Given the description of an element on the screen output the (x, y) to click on. 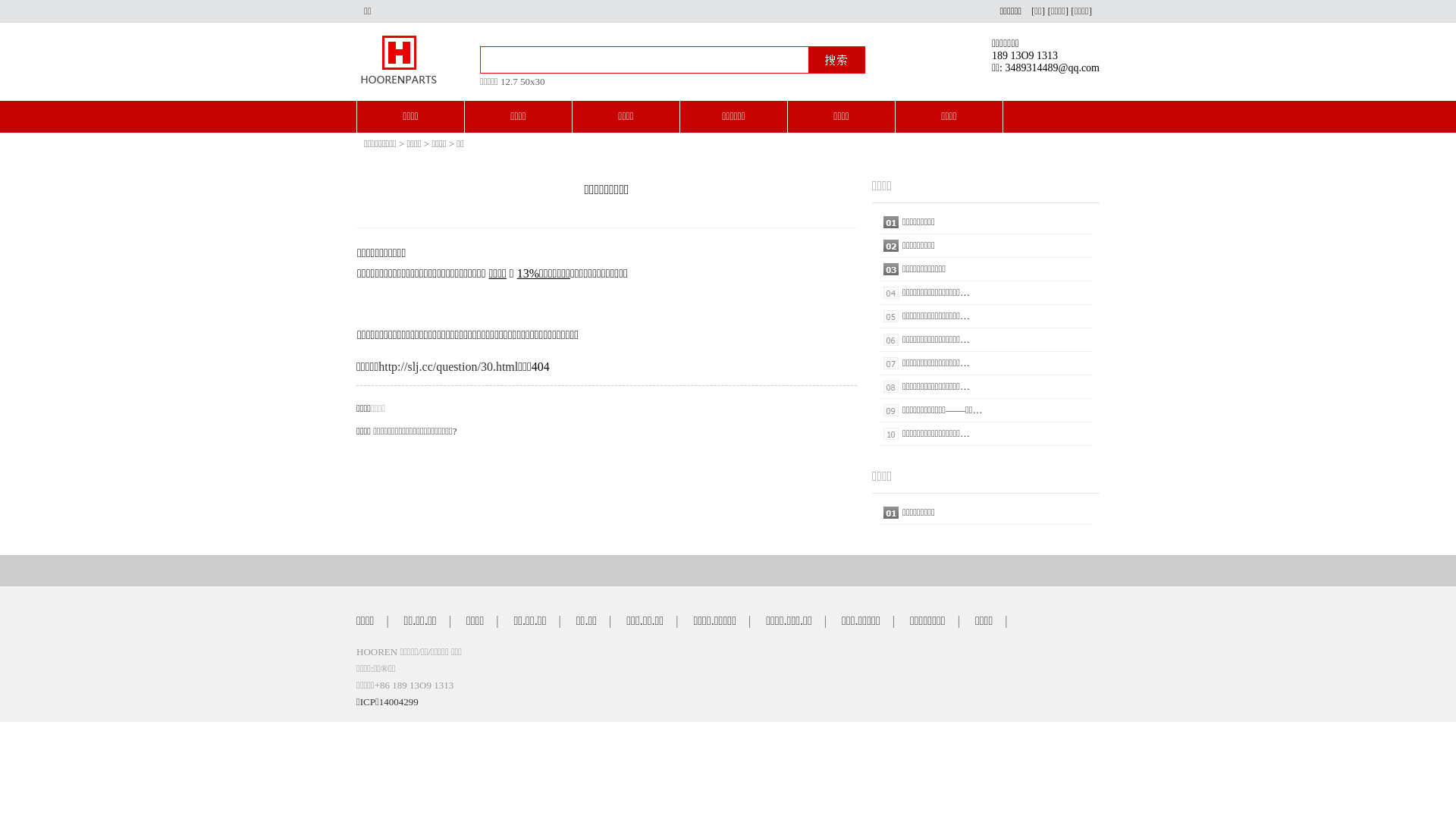
50x30 Element type: text (532, 81)
12.7 Element type: text (508, 81)
http://slj.cc/question/30.html Element type: text (447, 366)
